Given the description of an element on the screen output the (x, y) to click on. 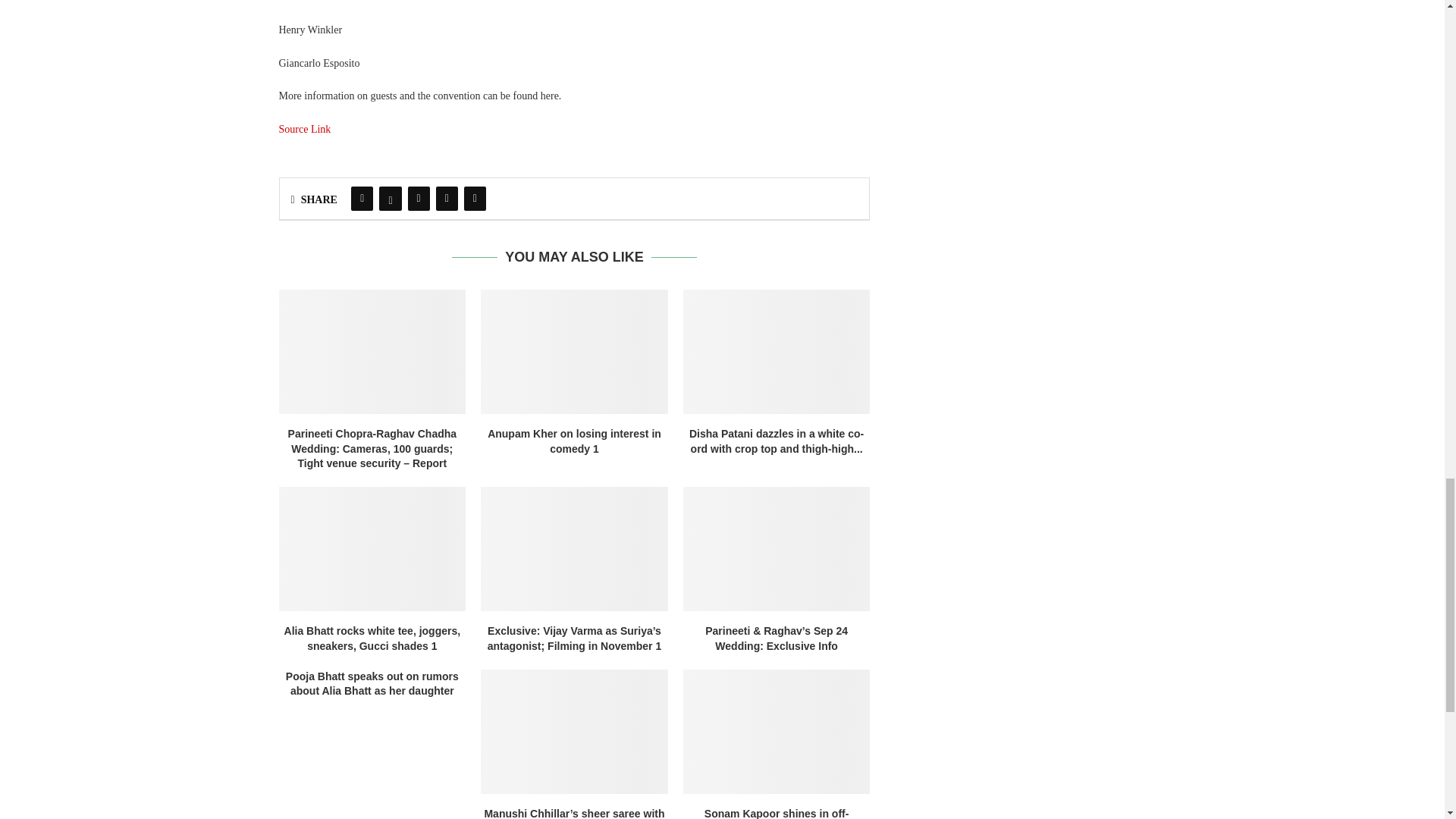
Anupam Kher on losing interest in comedy 1 (574, 351)
